Given the description of an element on the screen output the (x, y) to click on. 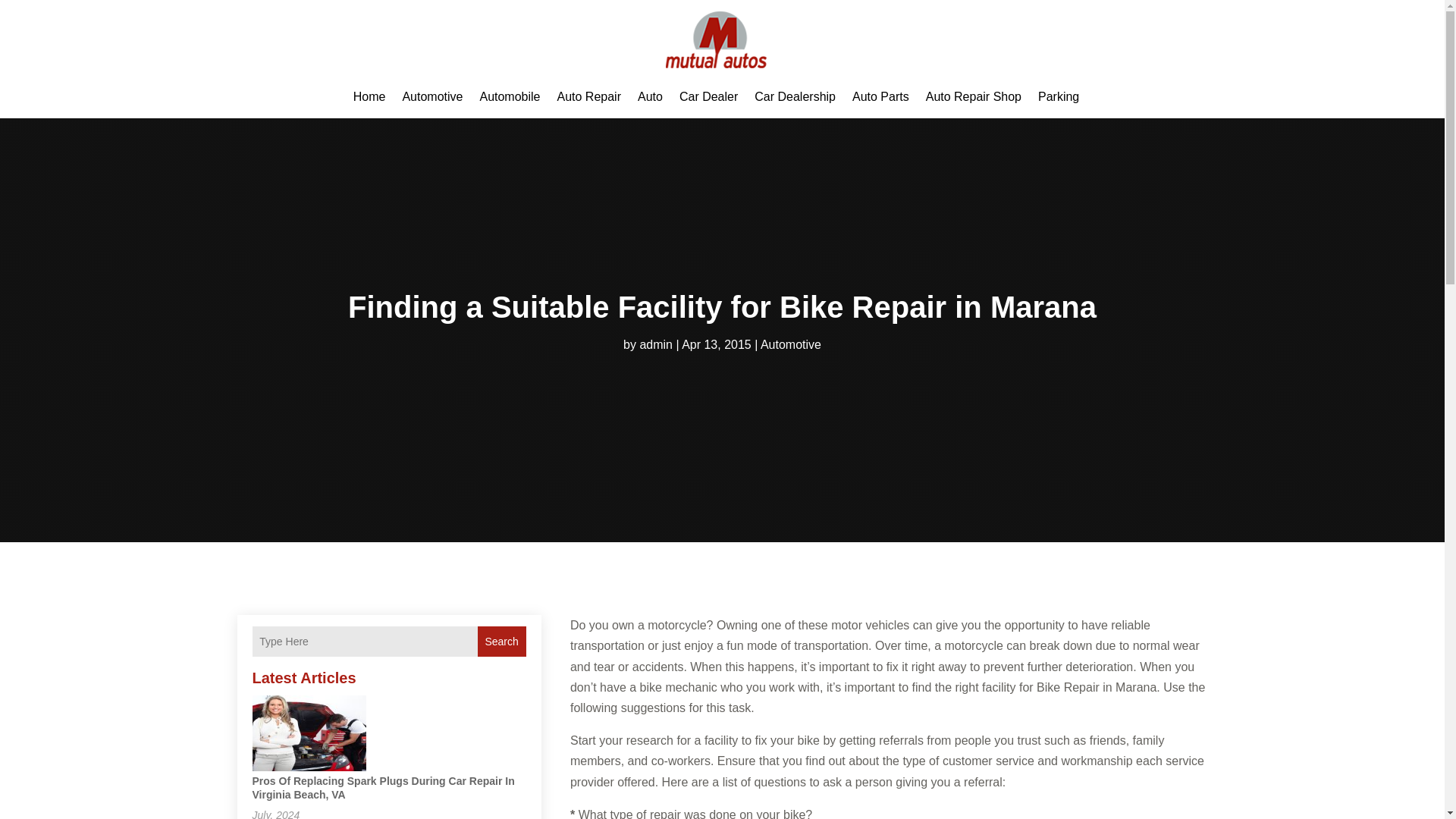
Automobile (509, 96)
Automotive (790, 344)
Posts by admin (655, 344)
admin (655, 344)
Car Dealership (794, 96)
Auto Repair (588, 96)
Automotive (432, 96)
Auto Parts (879, 96)
Search (501, 641)
Auto Repair Shop (974, 96)
Car Dealer (708, 96)
